Given the description of an element on the screen output the (x, y) to click on. 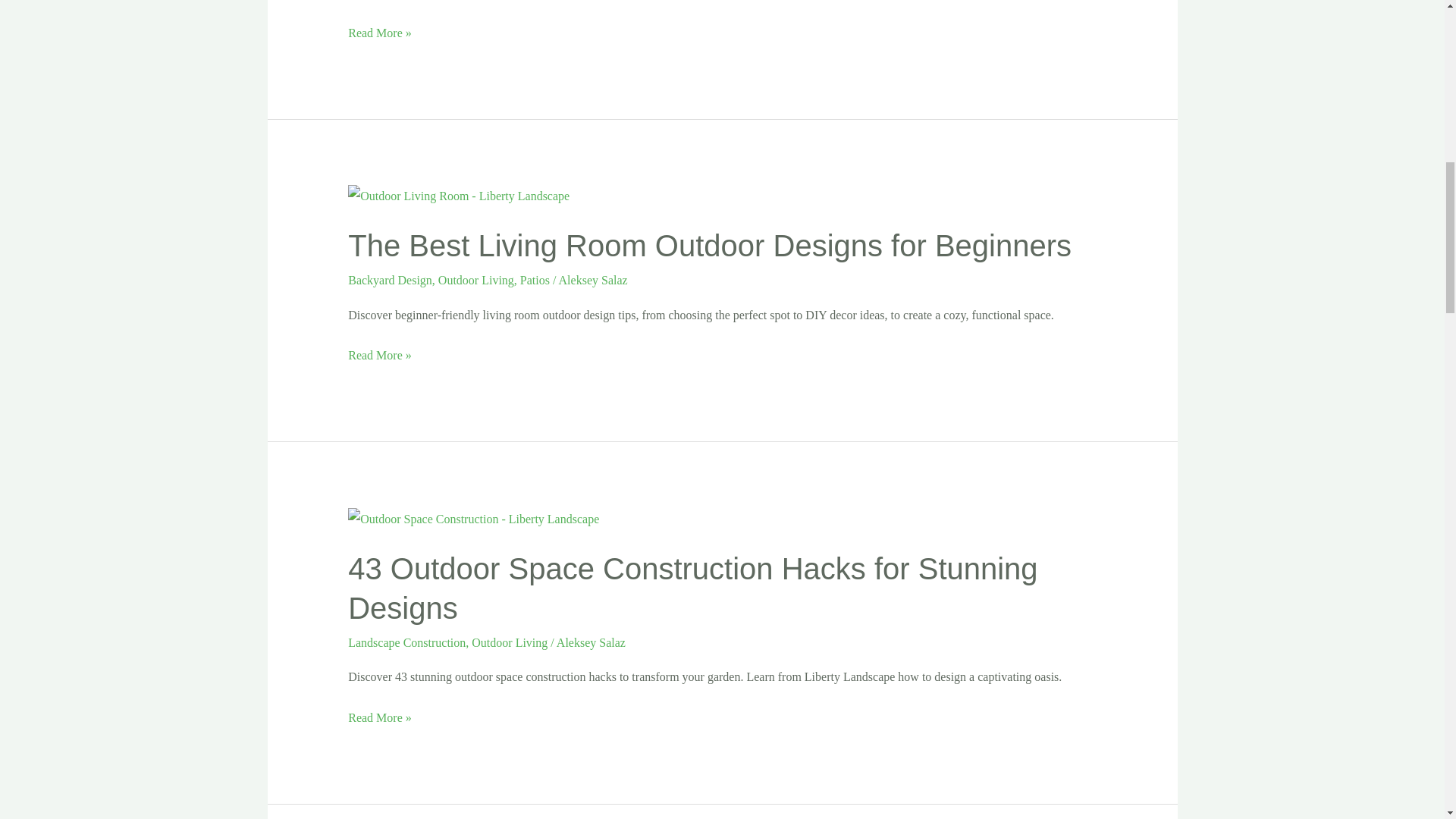
View all posts by Aleksey Salaz (591, 642)
View all posts by Aleksey Salaz (593, 279)
